Given the description of an element on the screen output the (x, y) to click on. 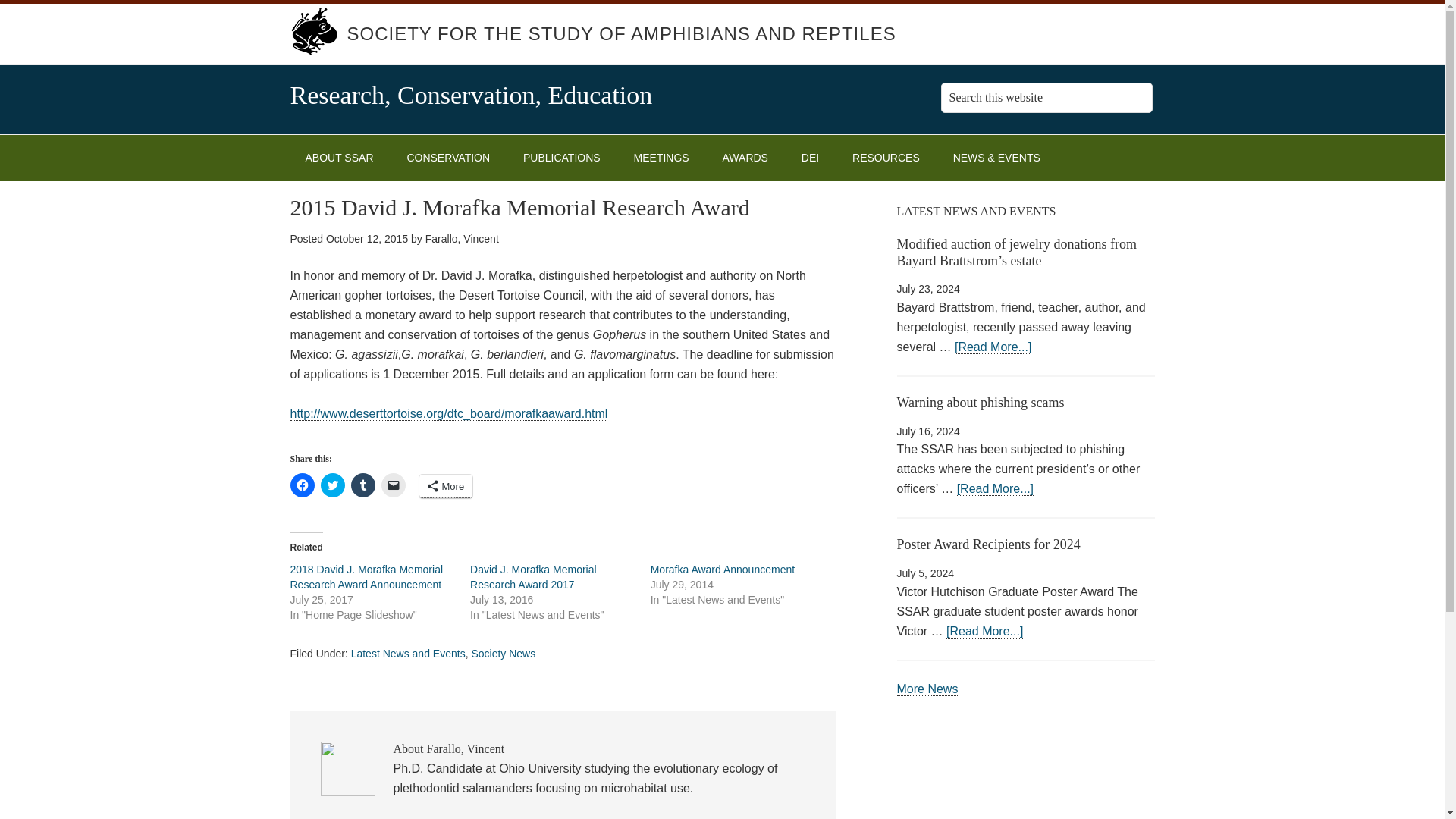
AWARDS (745, 157)
David J. Morafka Memorial Research Award 2017 (533, 577)
Search this website (1045, 97)
Search this website (1045, 97)
Click to email a link to a friend (392, 485)
Click to share on Facebook (301, 485)
DEI (810, 157)
PUBLICATIONS (561, 157)
Click to share on Twitter (331, 485)
CONSERVATION (448, 157)
MEETINGS (661, 157)
2018 David J. Morafka Memorial Research Award Announcement (365, 577)
